Given the description of an element on the screen output the (x, y) to click on. 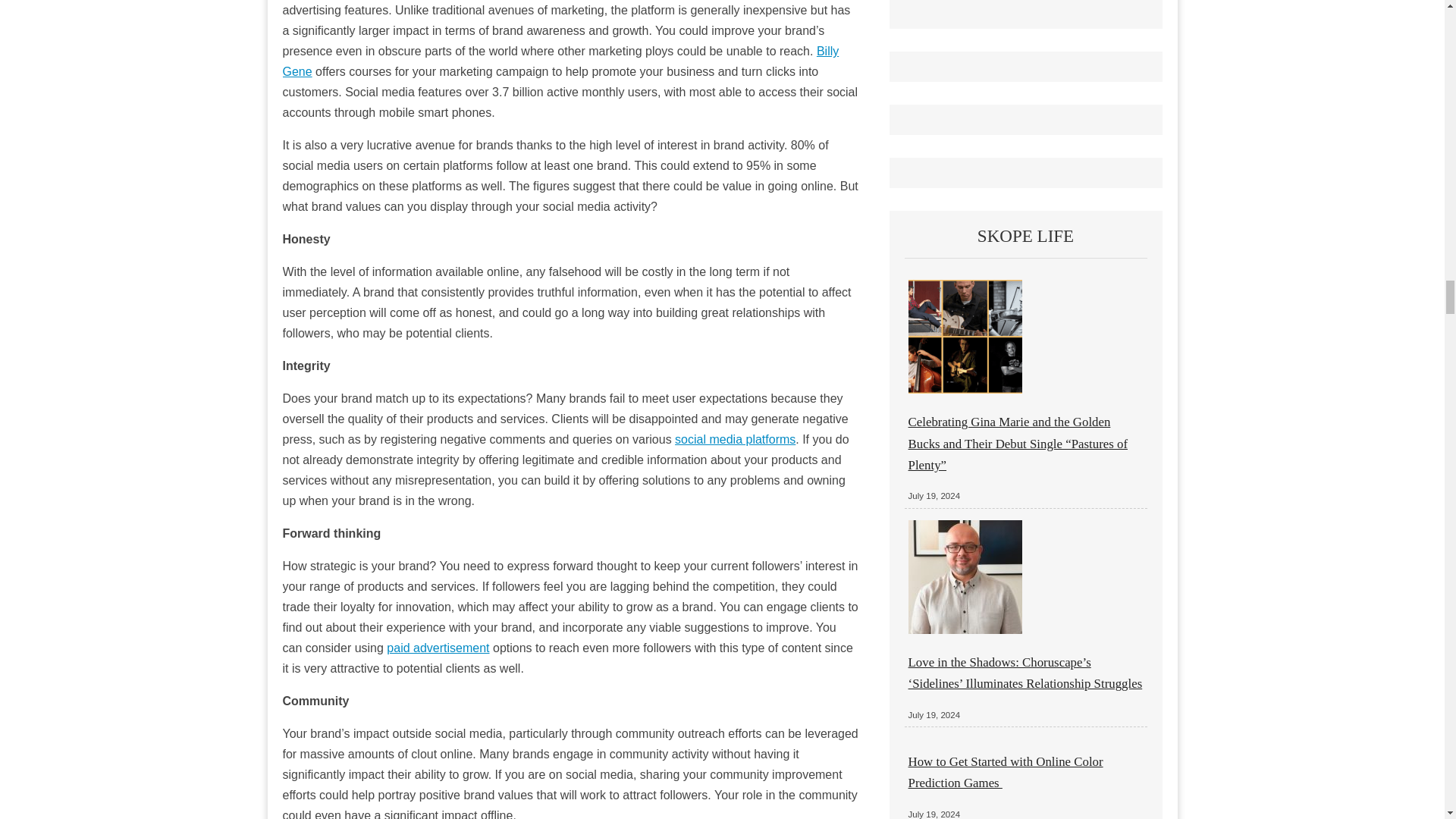
paid advertisement (438, 647)
How to Get Started with Online Color Prediction Games  (1005, 772)
Billy Gene (560, 61)
social media platforms (734, 439)
